Given the description of an element on the screen output the (x, y) to click on. 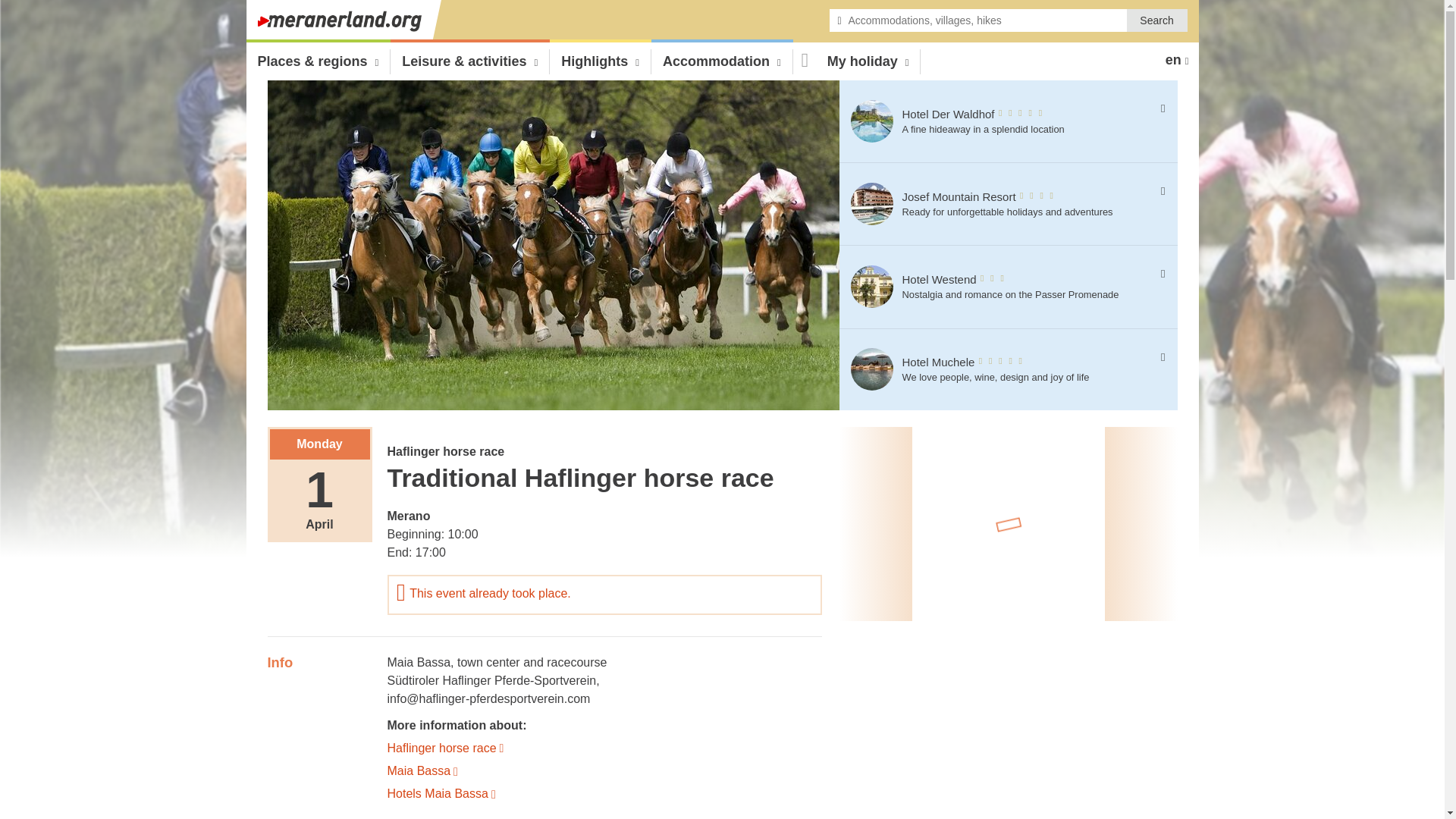
Haflinger horse race (604, 745)
Merano (408, 515)
Maia Bassa (604, 768)
Maia Bassa (418, 662)
Hotels Maia Bassa (604, 792)
Haflinger horse race (604, 745)
Maia Bassa (604, 768)
Hotels Maia Bassa (604, 792)
